Given the description of an element on the screen output the (x, y) to click on. 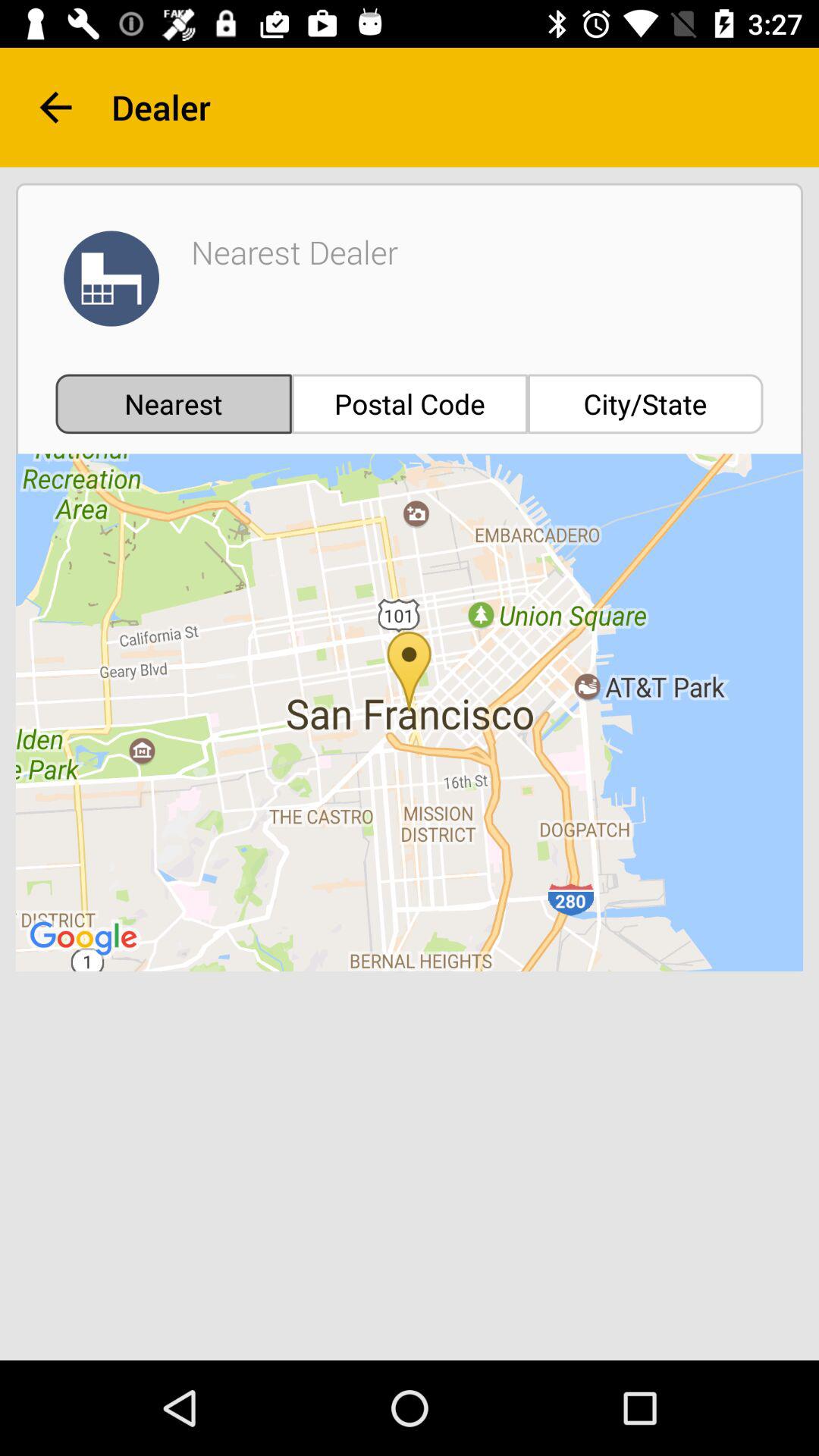
select the item below the nearest dealer (409, 403)
